Given the description of an element on the screen output the (x, y) to click on. 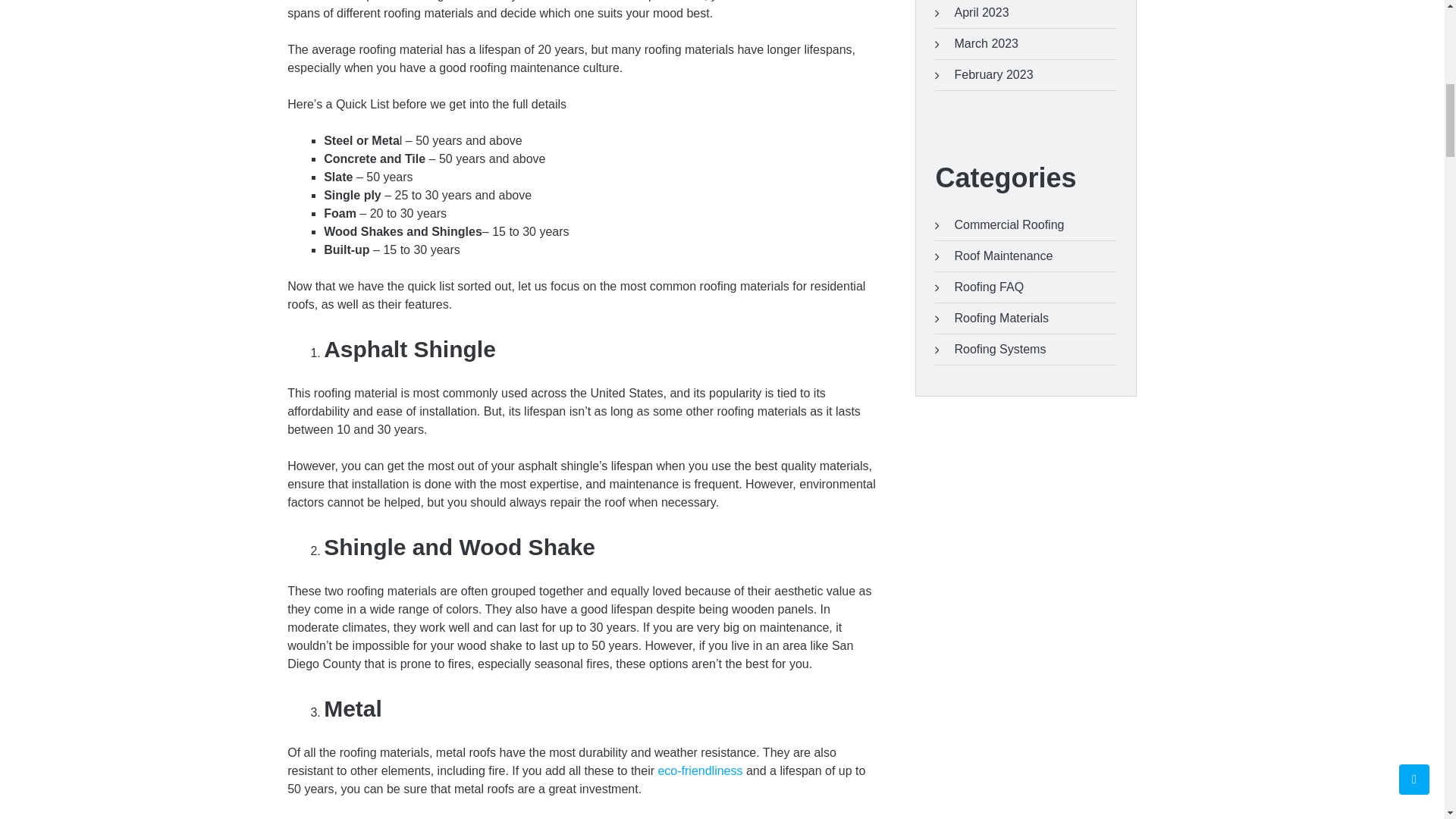
eco-friendliness (700, 770)
